Given the description of an element on the screen output the (x, y) to click on. 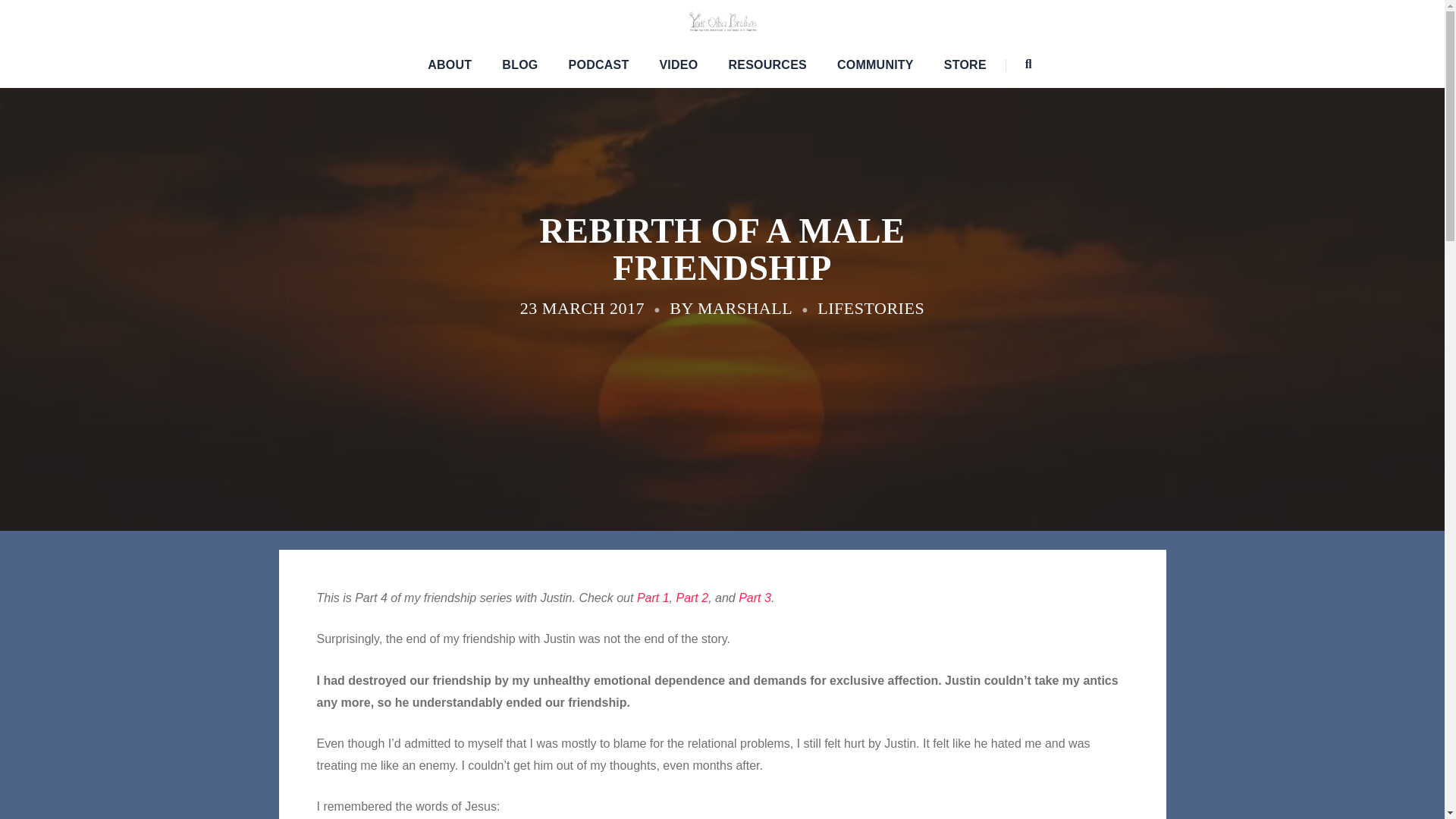
PODCAST (598, 64)
Part 1 (653, 597)
RESOURCES (767, 64)
STORE (965, 64)
LIFESTORIES (870, 307)
Your Other Brothers (722, 20)
Part 3 (754, 597)
Part 2 (691, 597)
MARSHALL (744, 307)
ABOUT (449, 64)
